Given the description of an element on the screen output the (x, y) to click on. 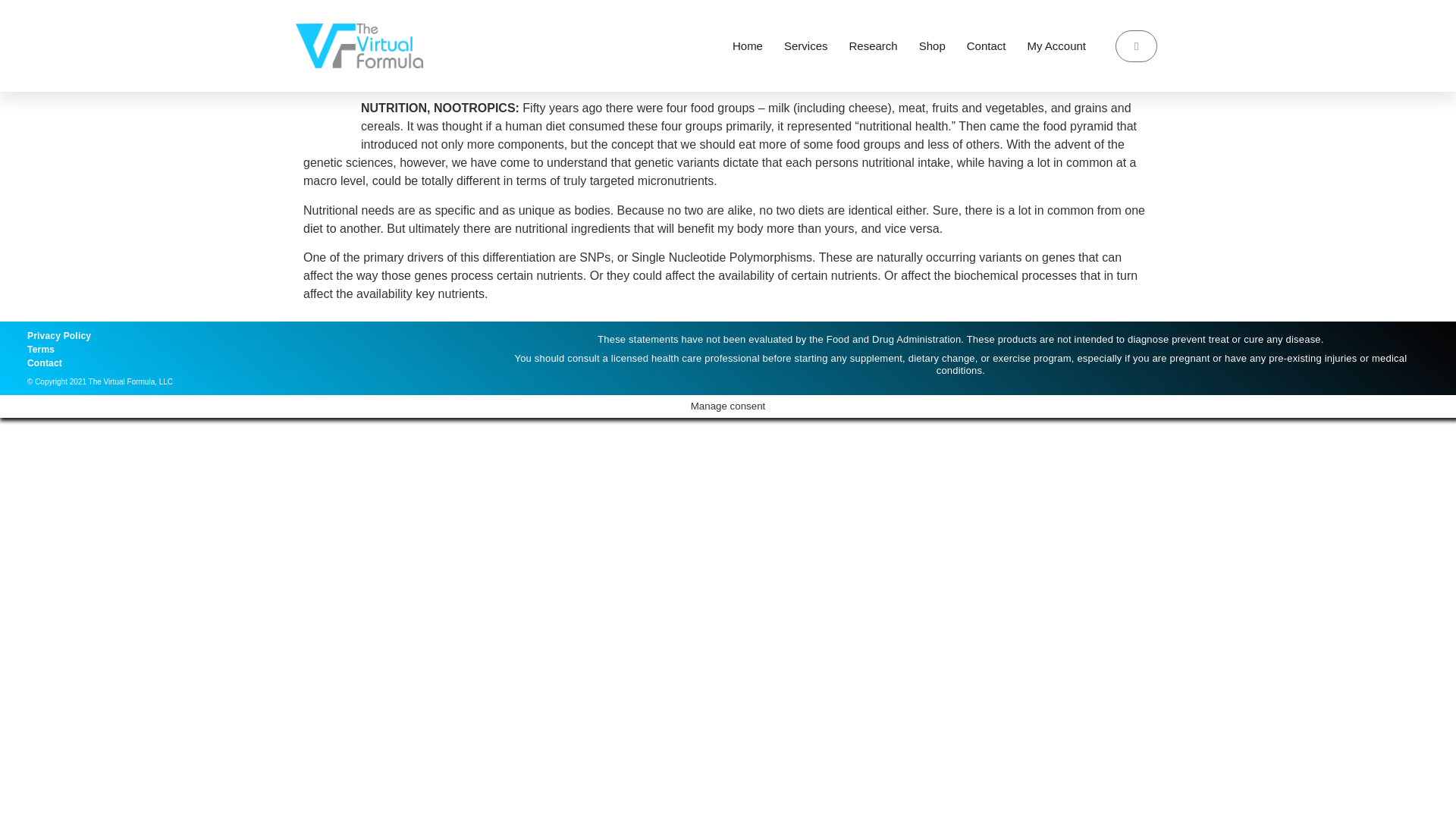
Shop (931, 46)
My Account (1056, 46)
Services (806, 46)
Research (873, 46)
Home (747, 46)
Contact (986, 46)
